Given the description of an element on the screen output the (x, y) to click on. 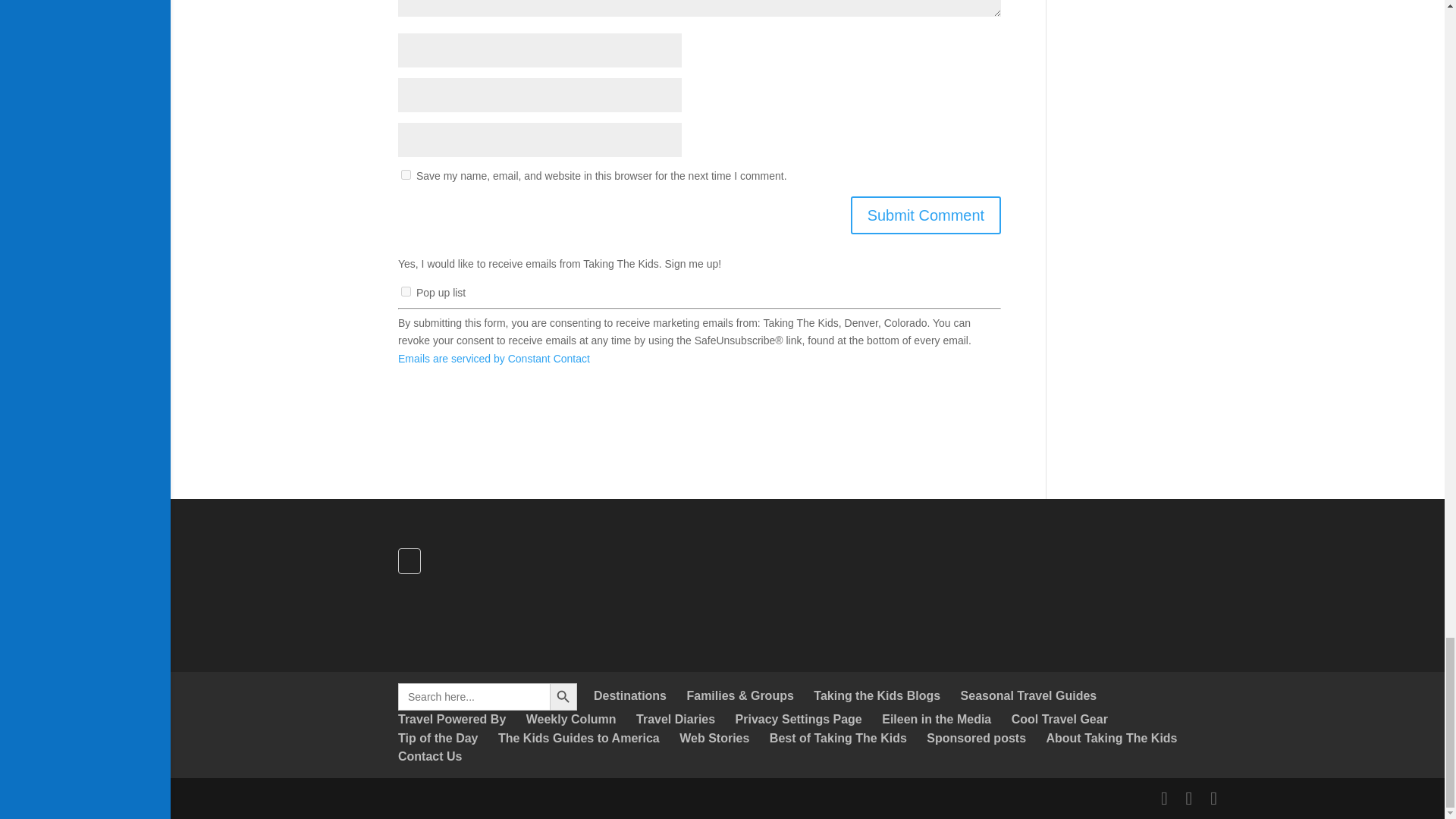
yes (405, 174)
679276e2-a18b-11ec-9047-fa163ea6032f (405, 291)
Submit Comment (925, 215)
